Given the description of an element on the screen output the (x, y) to click on. 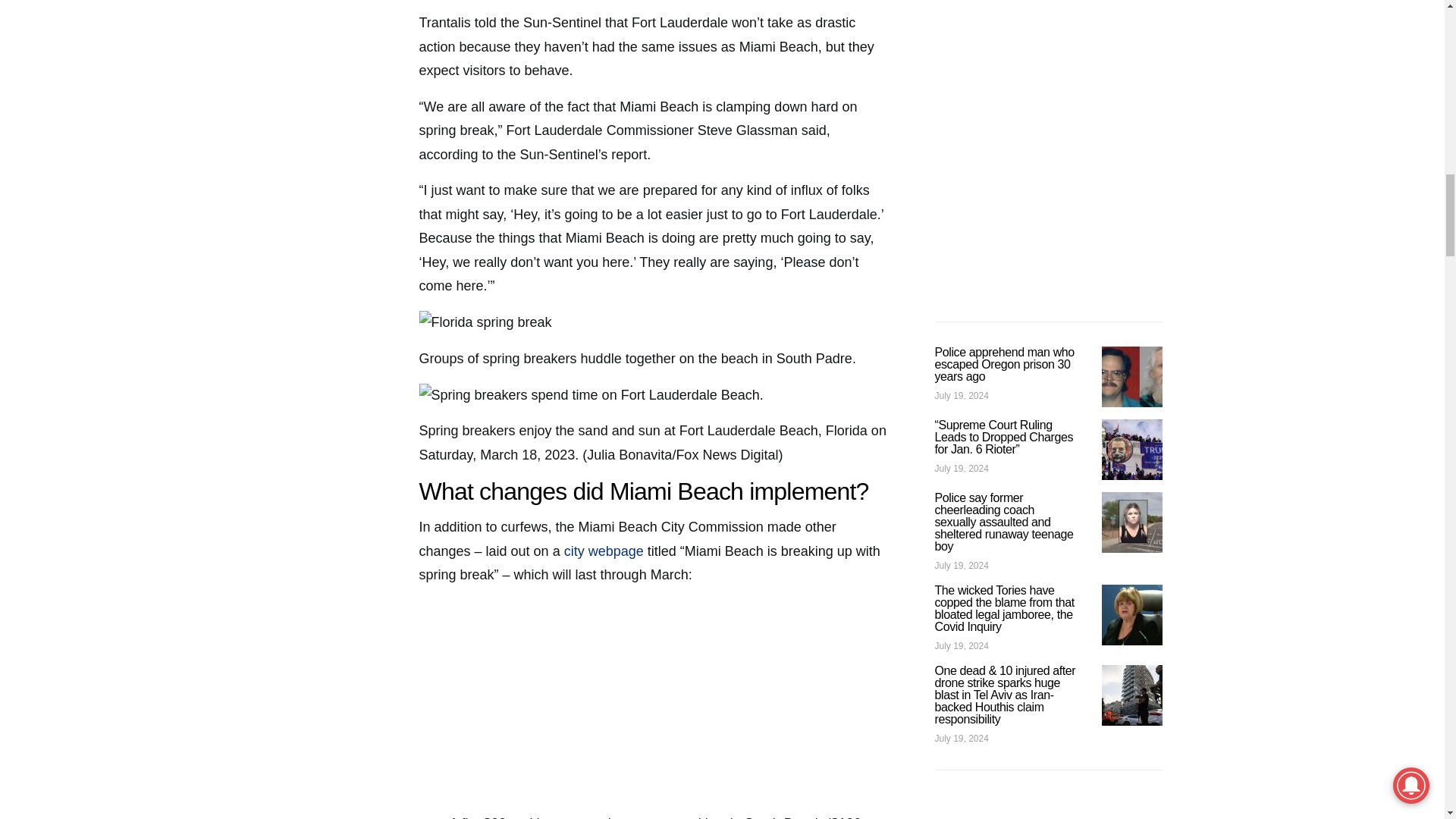
Advertisement (653, 704)
